Given the description of an element on the screen output the (x, y) to click on. 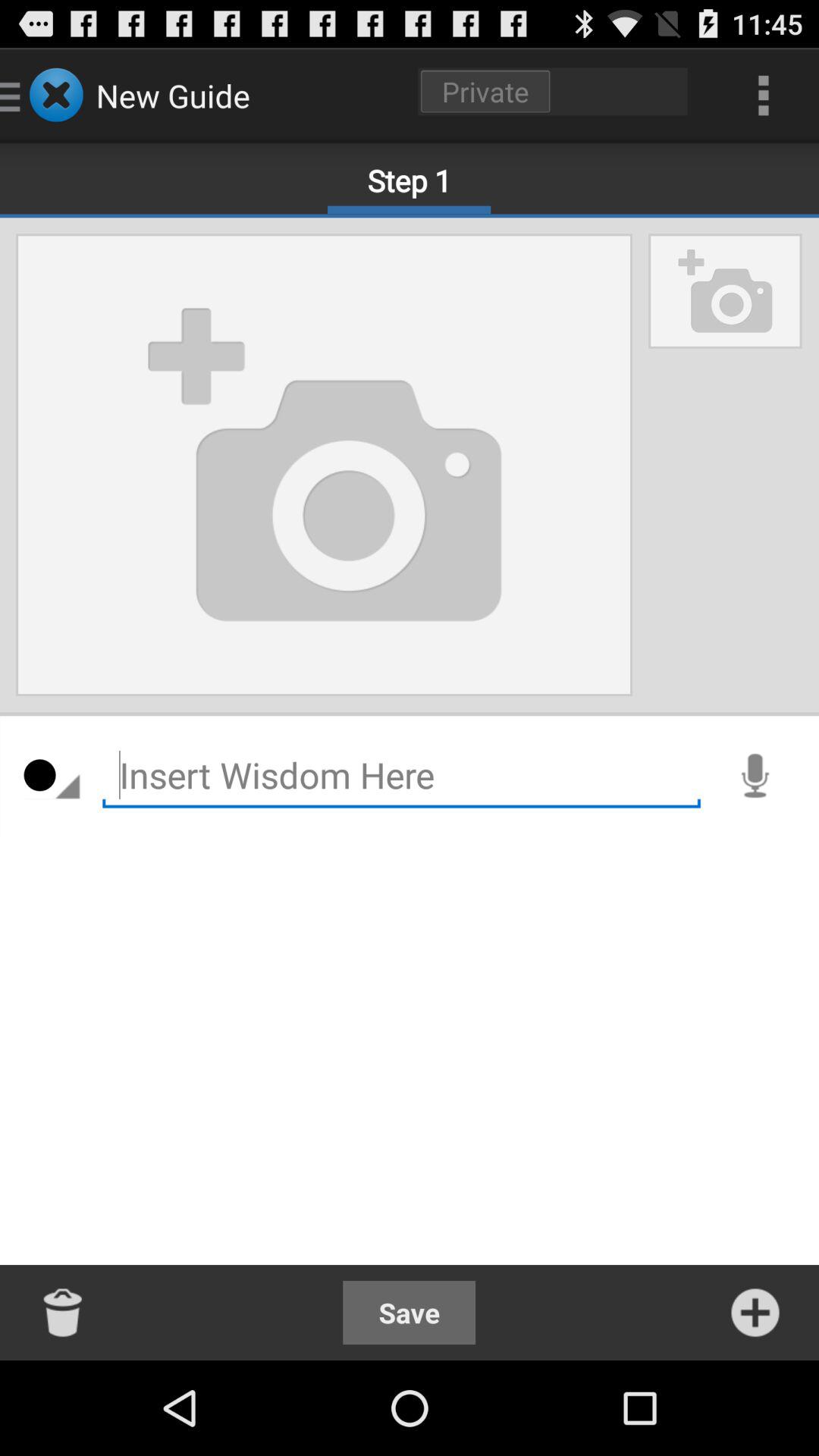
tap the item to the left of save (63, 1312)
